Given the description of an element on the screen output the (x, y) to click on. 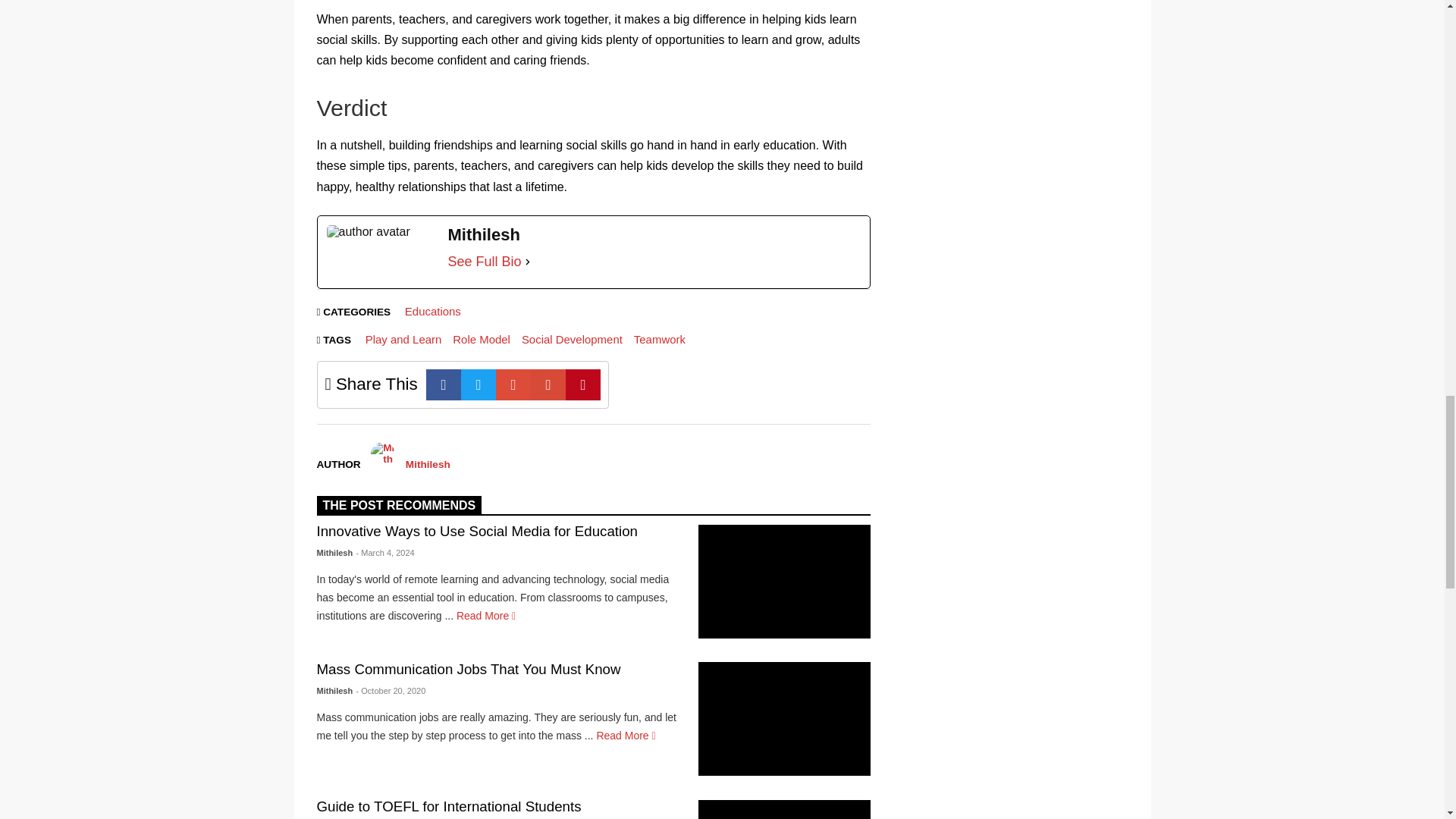
E-mail (548, 384)
Google-plus (513, 384)
Facebook (443, 384)
Twitter (478, 384)
